Given the description of an element on the screen output the (x, y) to click on. 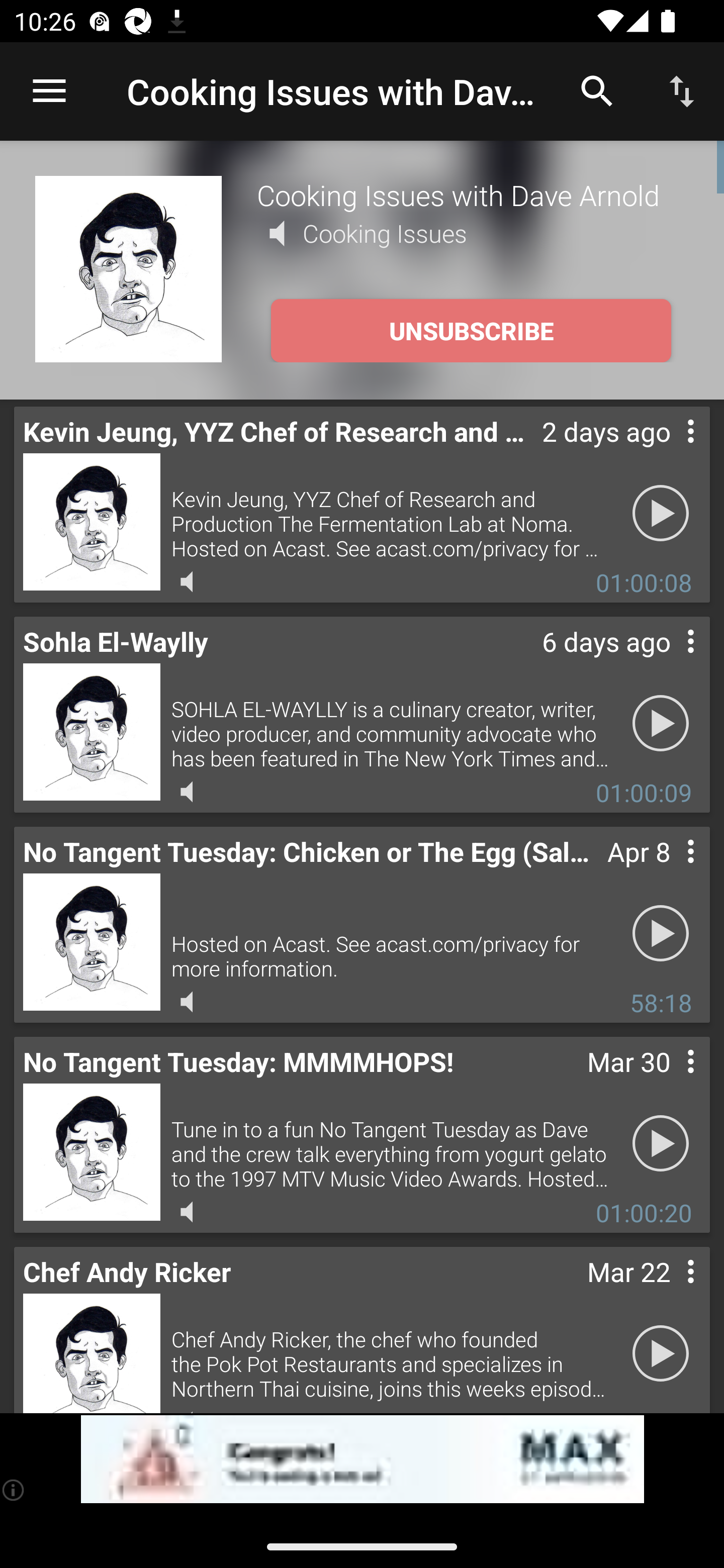
Open navigation sidebar (49, 91)
Search (597, 90)
Sort (681, 90)
UNSUBSCRIBE (470, 330)
Contextual menu (668, 451)
Play (660, 513)
Contextual menu (668, 661)
Play (660, 723)
Contextual menu (668, 870)
Play (660, 933)
Contextual menu (668, 1080)
Play (660, 1143)
Contextual menu (668, 1290)
Play (660, 1353)
app-monetization (362, 1459)
(i) (14, 1489)
